Given the description of an element on the screen output the (x, y) to click on. 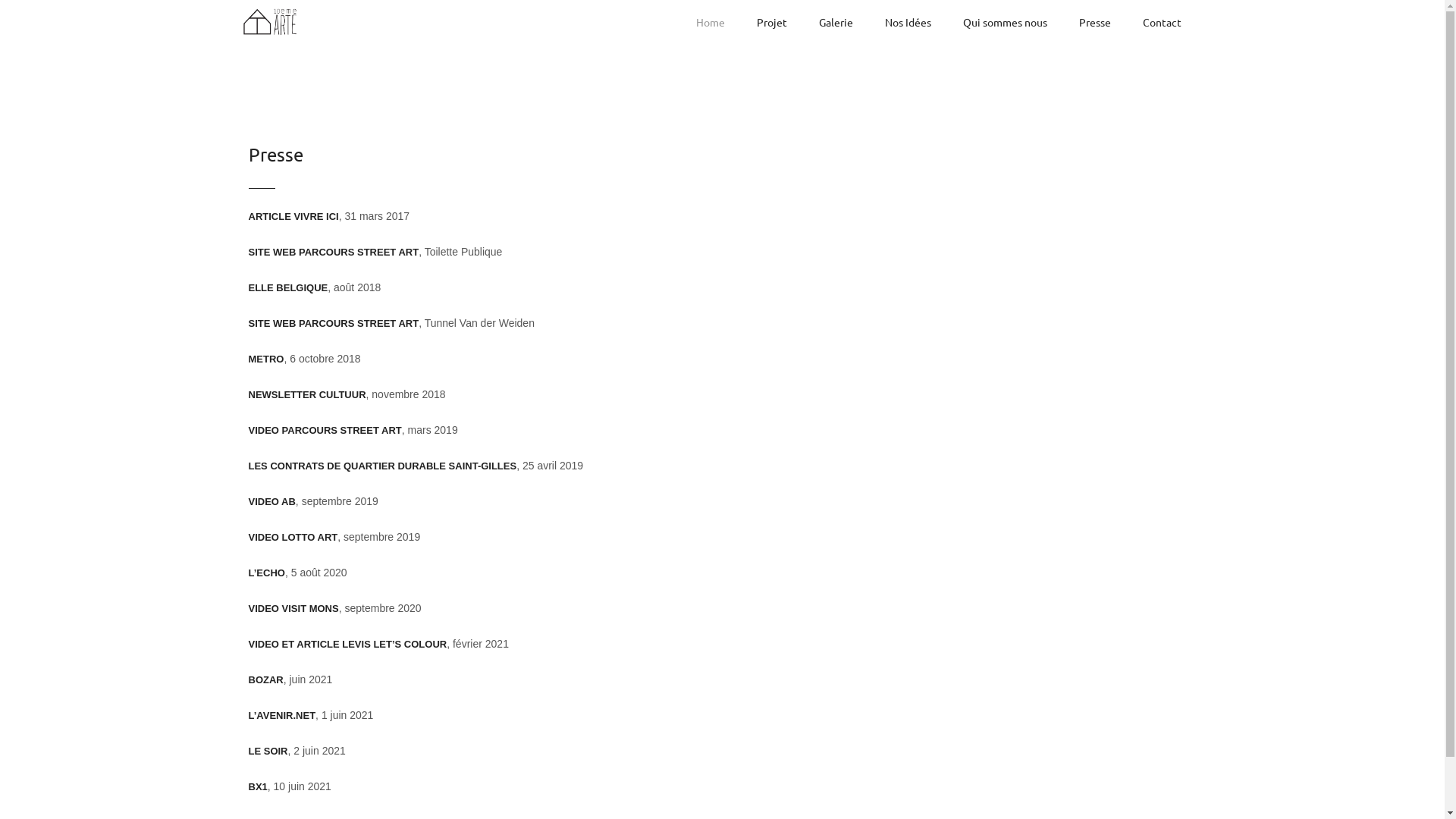
Home Element type: text (710, 21)
Projet Element type: text (771, 21)
SITE WEB PARCOURS STREET ART Element type: text (333, 251)
SITE WEB PARCOURS STREET ART Element type: text (333, 323)
NEWSLETTER CULTUUR Element type: text (307, 394)
VIDEO AB Element type: text (271, 501)
Galerie Element type: text (835, 21)
BOZAR Element type: text (265, 679)
VIDEO VISIT MONS Element type: text (293, 608)
VIDEO LOTTO ART Element type: text (293, 536)
METRO Element type: text (266, 358)
Contact Element type: text (1160, 21)
LE SOIR Element type: text (268, 750)
ARTICLE VIVRE ICI Element type: text (293, 216)
ELLE BELGIQUE Element type: text (288, 287)
Qui sommes nous Element type: text (1004, 21)
Presse Element type: text (1094, 21)
O Element type: text (281, 572)
LES CONTRATS DE QUARTIER DURABLE SAINT-GILLES Element type: text (382, 465)
VIDEO PARCOURS STREET ART Element type: text (324, 430)
BX1 Element type: text (257, 786)
